Given the description of an element on the screen output the (x, y) to click on. 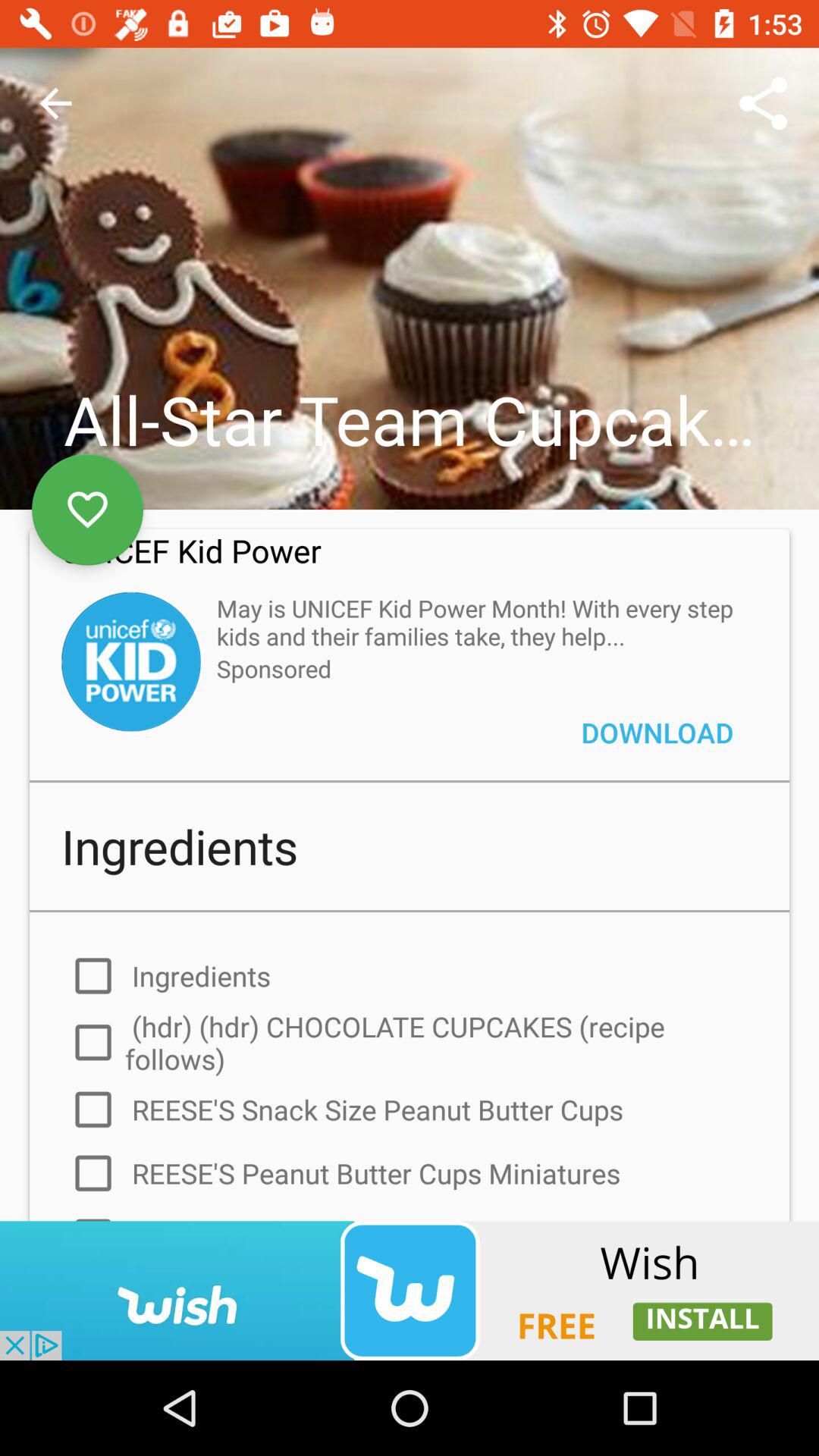
open browser (409, 1290)
